Given the description of an element on the screen output the (x, y) to click on. 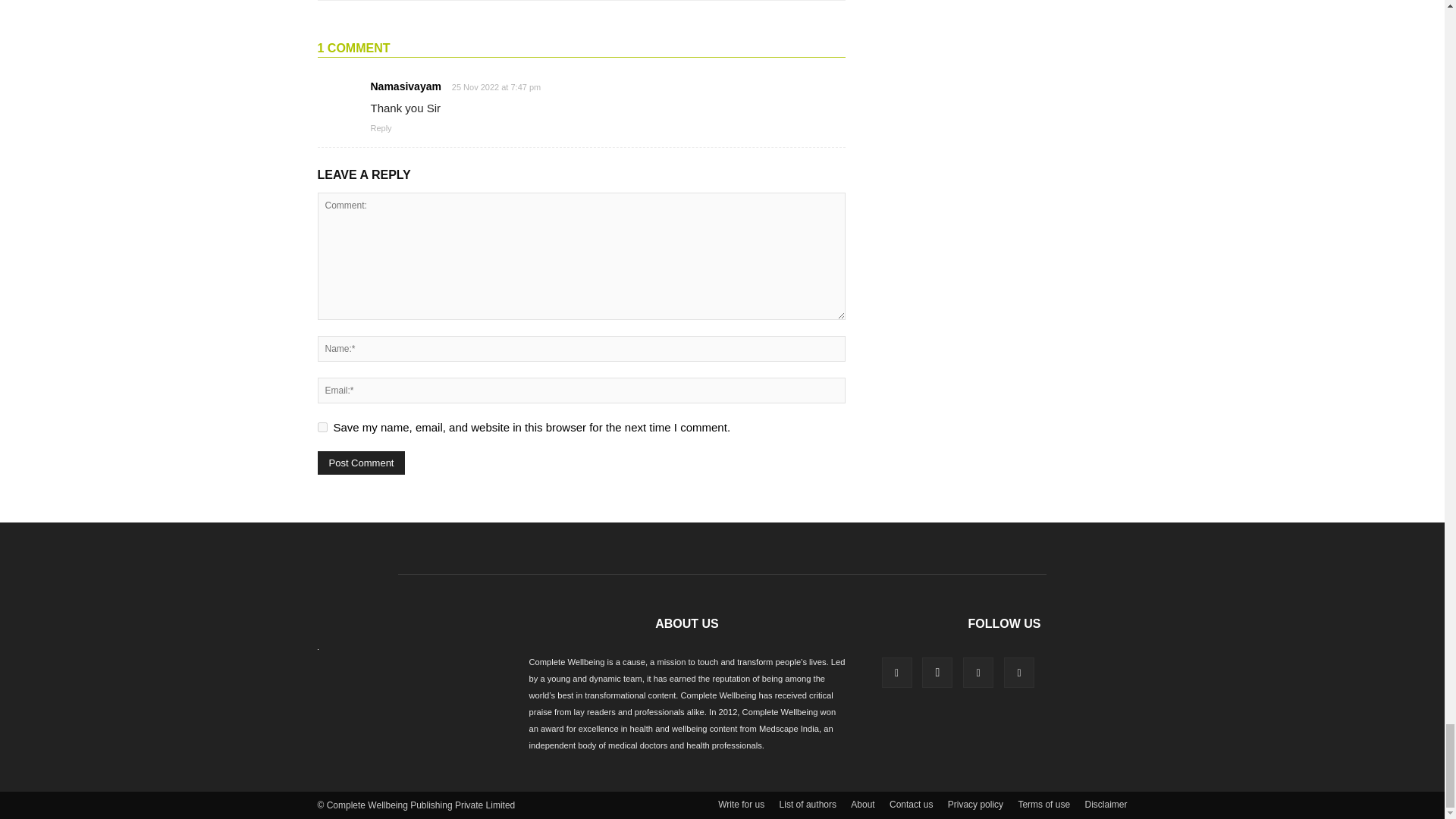
Post Comment (360, 463)
yes (321, 427)
